Given the description of an element on the screen output the (x, y) to click on. 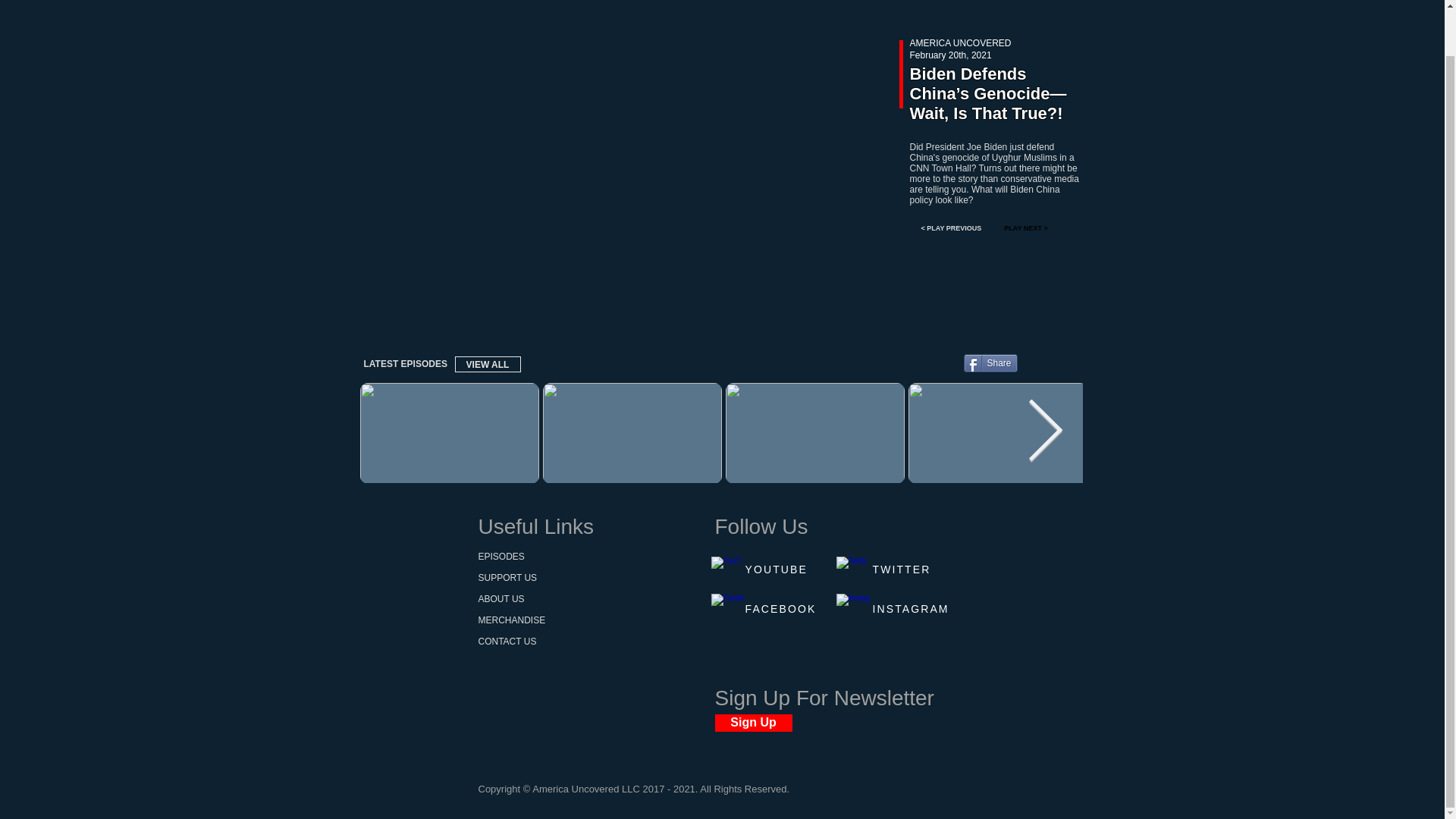
FACEBOOK (779, 608)
Sign Up (753, 723)
TWITTER (901, 569)
Share (989, 362)
ABOUT US (500, 598)
EPISODES (500, 556)
Twitter Tweet (1052, 361)
CONTACT US (506, 641)
INSTAGRAM (910, 608)
Share (989, 362)
